Given the description of an element on the screen output the (x, y) to click on. 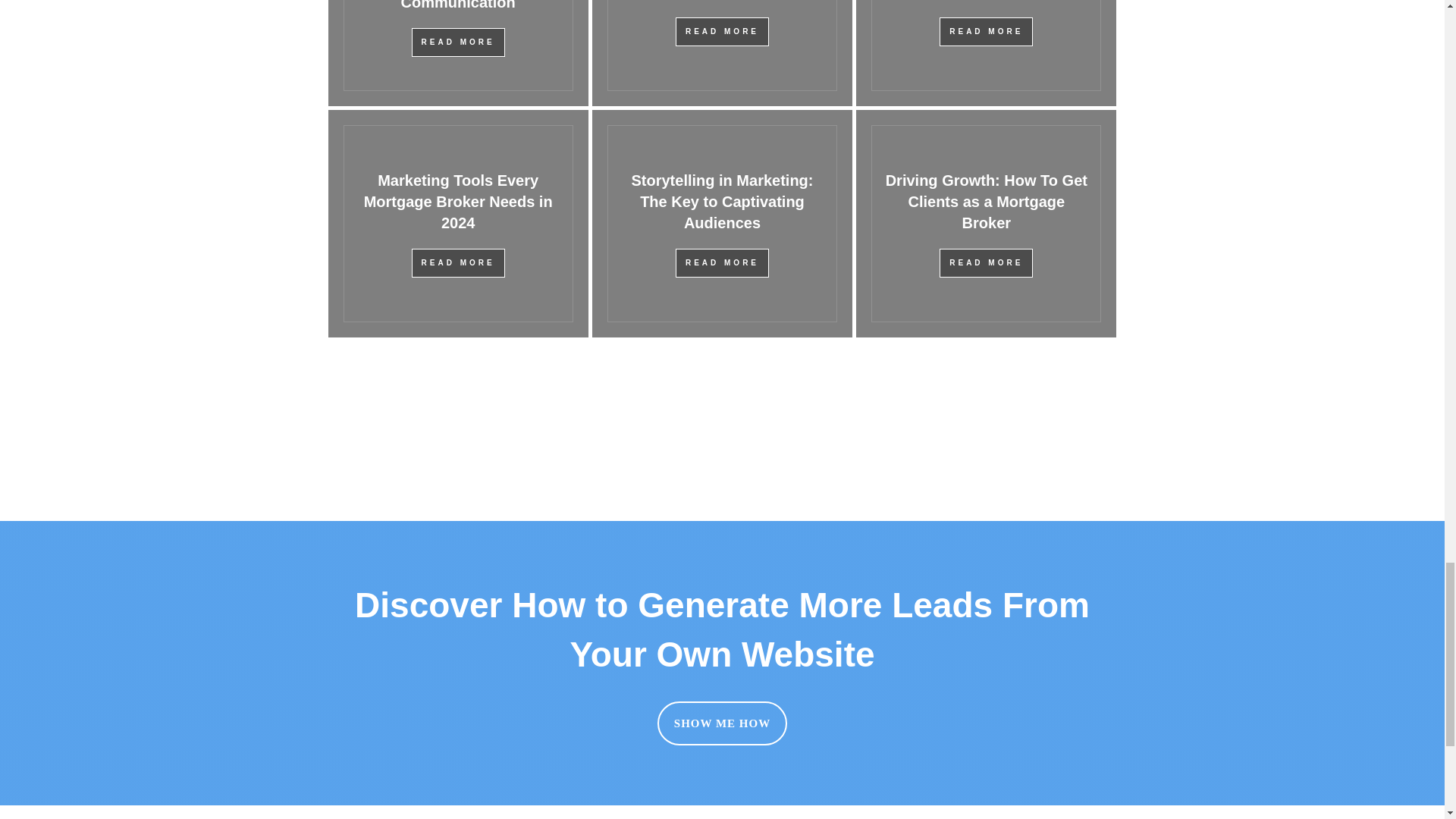
READ MORE (985, 31)
Storytelling in Marketing: The Key to Captivating Audiences (721, 200)
Marketing Tools Every Mortgage Broker Needs in 2024 (458, 200)
Driving Growth: How To Get Clients as a Mortgage Broker (986, 200)
READ MORE (721, 31)
READ MORE (458, 41)
